Given the description of an element on the screen output the (x, y) to click on. 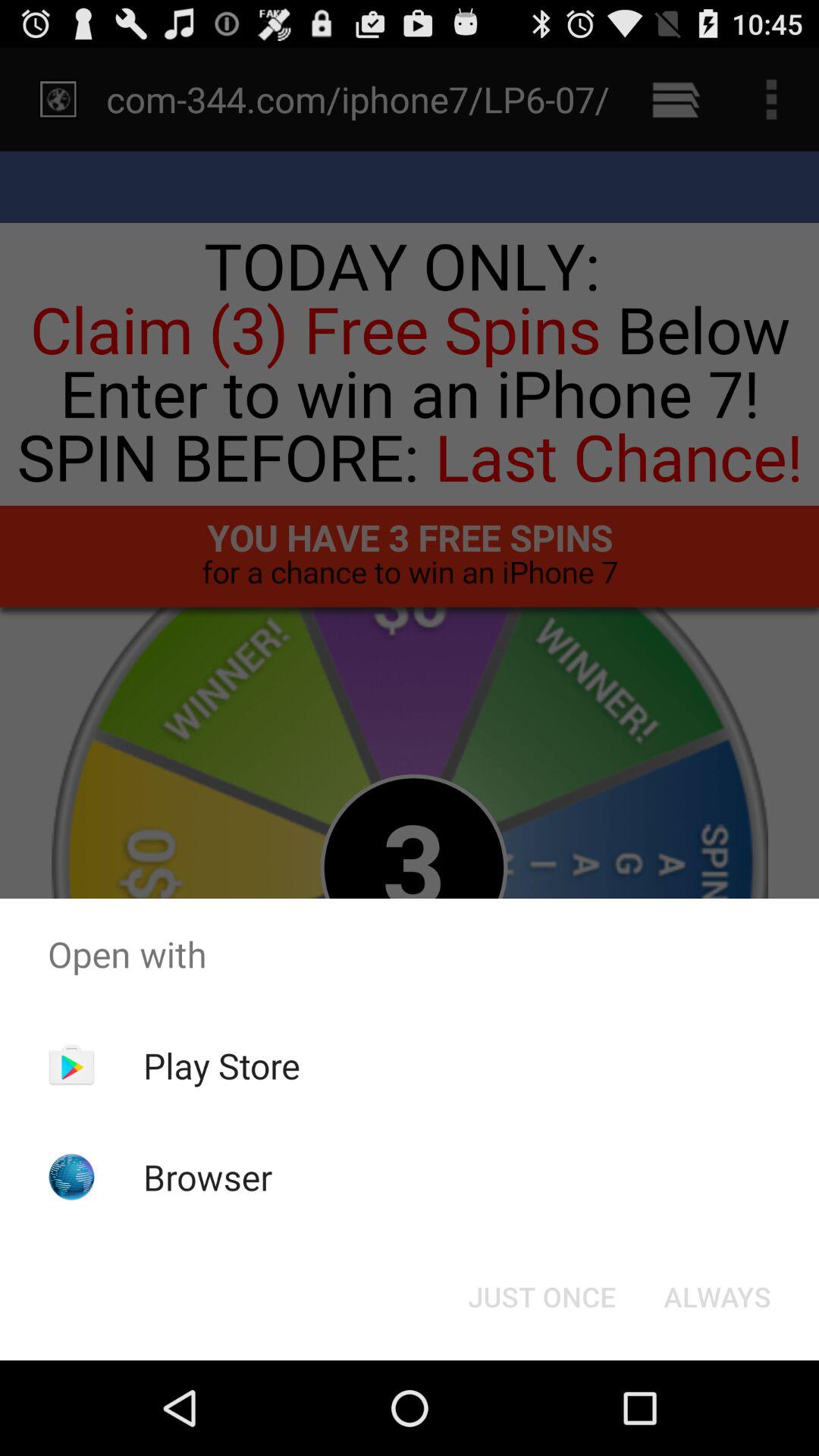
open the icon to the left of always item (541, 1296)
